Given the description of an element on the screen output the (x, y) to click on. 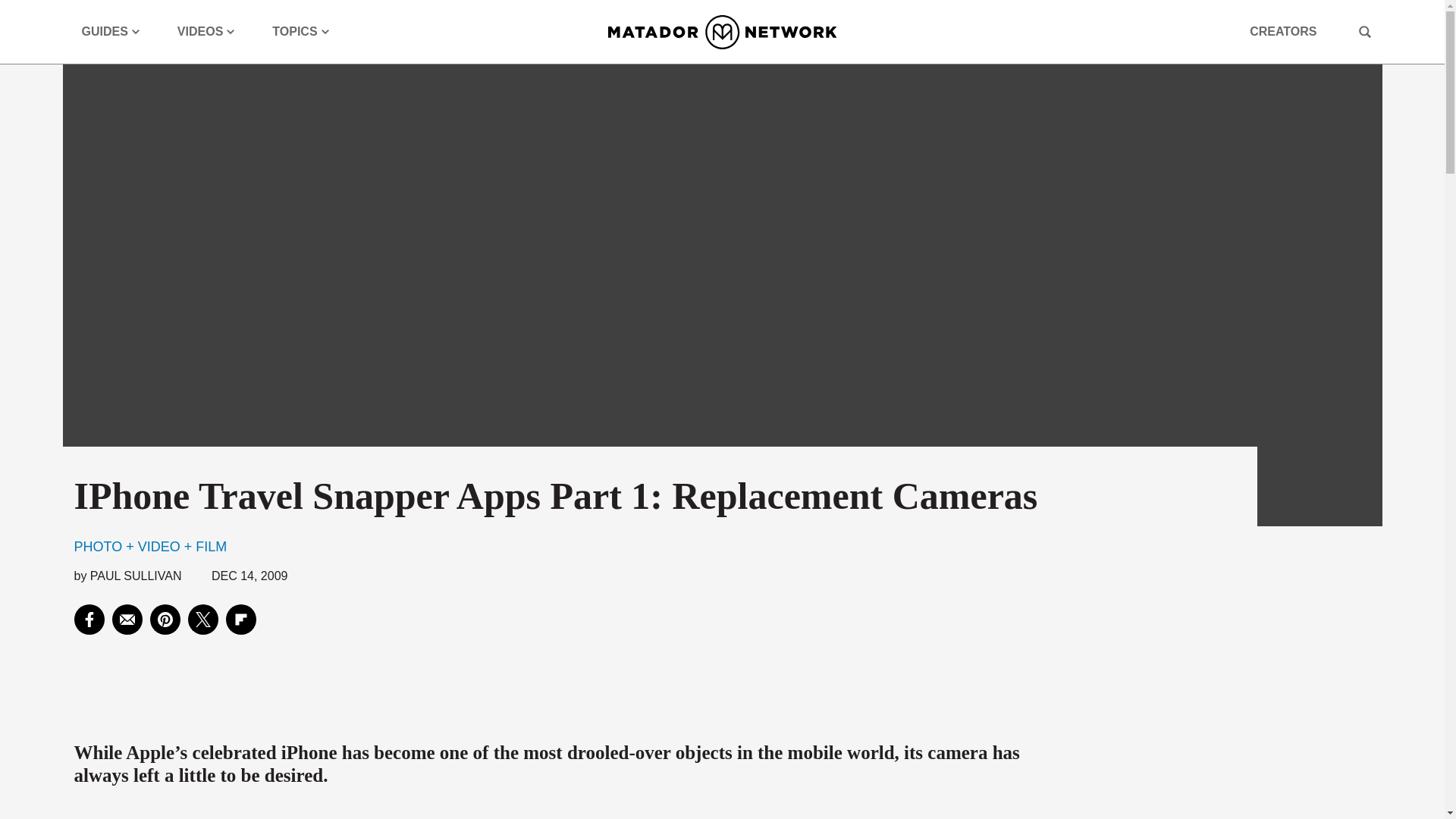
GUIDES (110, 31)
VIDEOS (205, 31)
TOPICS (300, 31)
CREATORS (1282, 31)
